Given the description of an element on the screen output the (x, y) to click on. 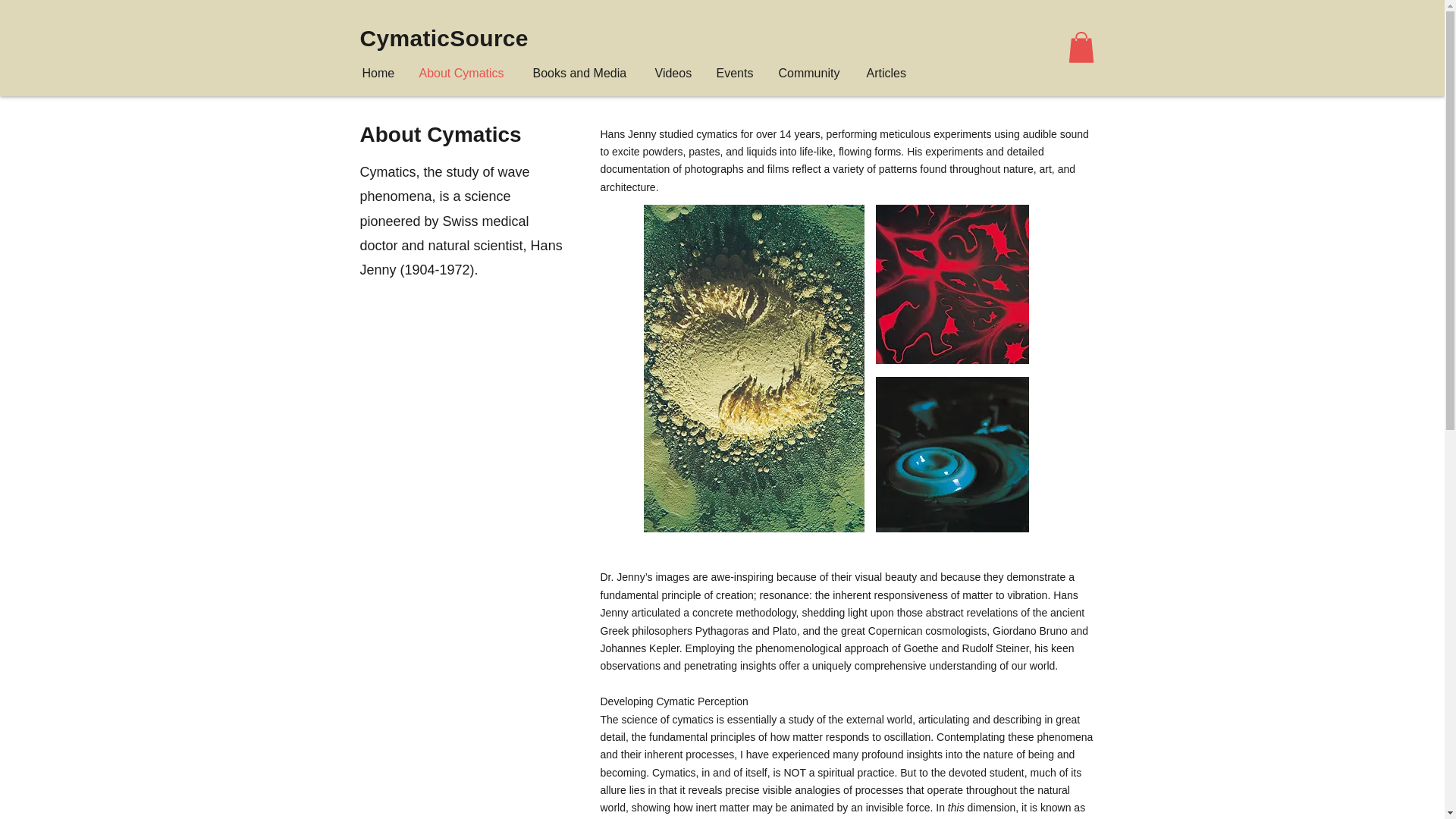
Home (378, 72)
146.jpg (951, 454)
Articles (888, 72)
Videos (673, 72)
103.jpg (951, 283)
About Cymatics (464, 72)
Books and Media (582, 72)
Events (735, 72)
Community (811, 72)
